Given the description of an element on the screen output the (x, y) to click on. 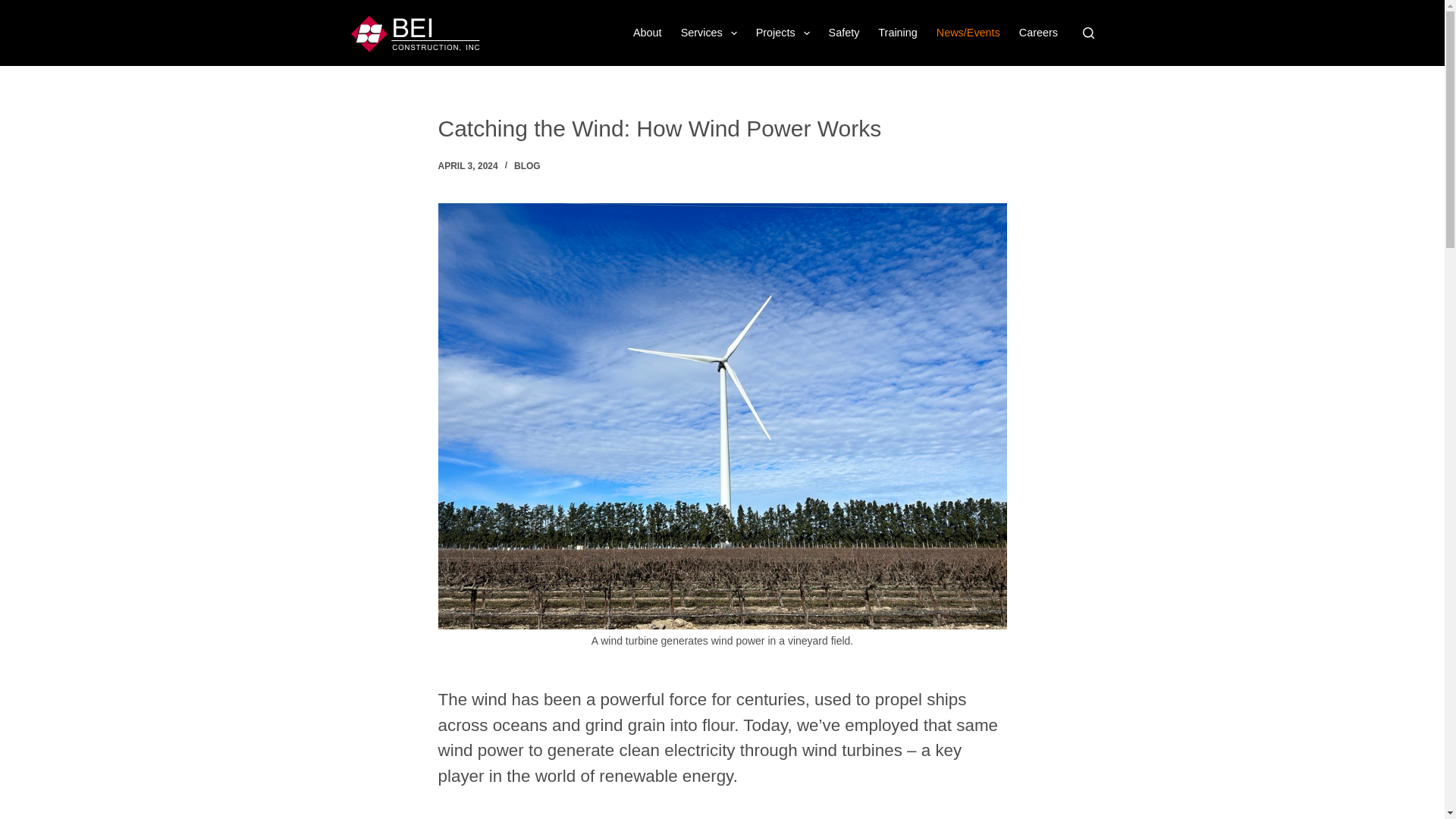
Catching the Wind: How Wind Power Works (722, 128)
Skip to content (15, 7)
